Given the description of an element on the screen output the (x, y) to click on. 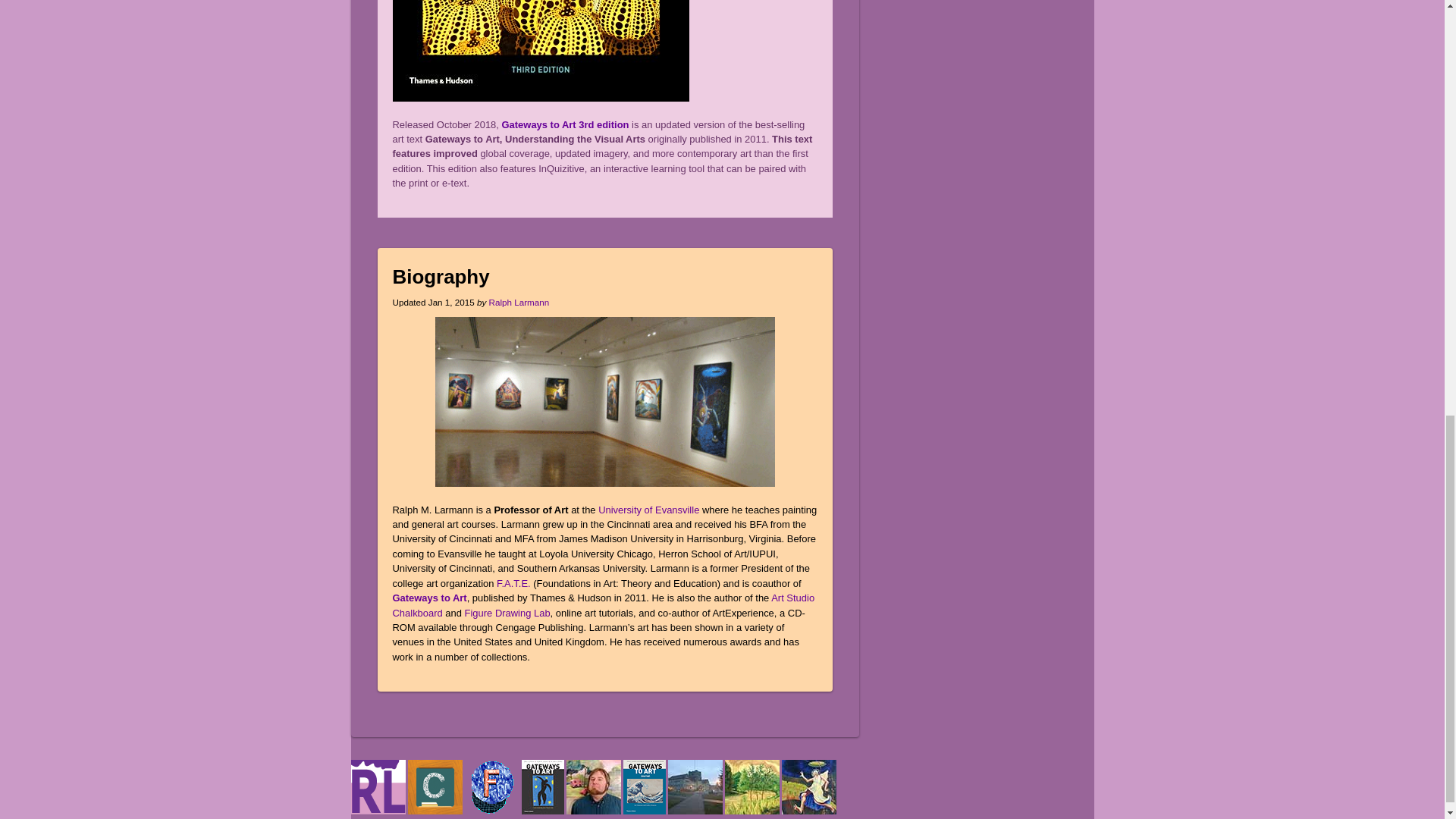
Gateways to Art (430, 597)
Figure Drawing Lab (491, 810)
Figure Drawing Lab (507, 613)
Biography (441, 276)
FATE (513, 583)
Gateways to Art (430, 597)
Gateways to Art 3rd edition (565, 124)
Figure Drawing Lab (507, 613)
Ralph M Larmann (377, 810)
Art Studio Chalkboard (604, 605)
Ralph Larmann (519, 302)
Gateways to Art (542, 810)
Gateways Museum Journal (644, 810)
Art Studio Chalkboard (435, 810)
University of Evansville (648, 509)
